Given the description of an element on the screen output the (x, y) to click on. 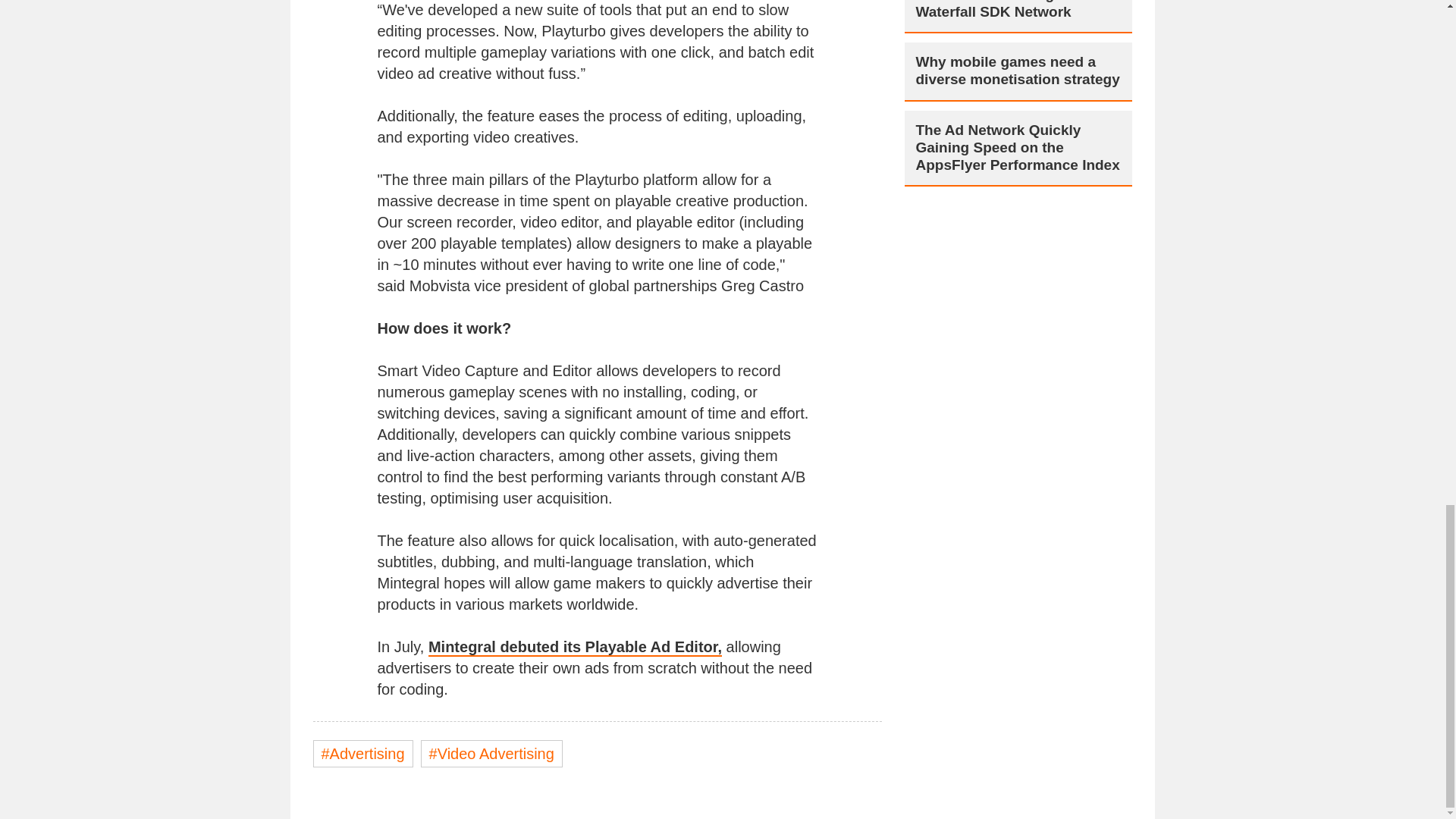
Why mobile games need a diverse monetisation strategy (1017, 70)
Mintegral debuted its Playable Ad Editor, (575, 647)
